Given the description of an element on the screen output the (x, y) to click on. 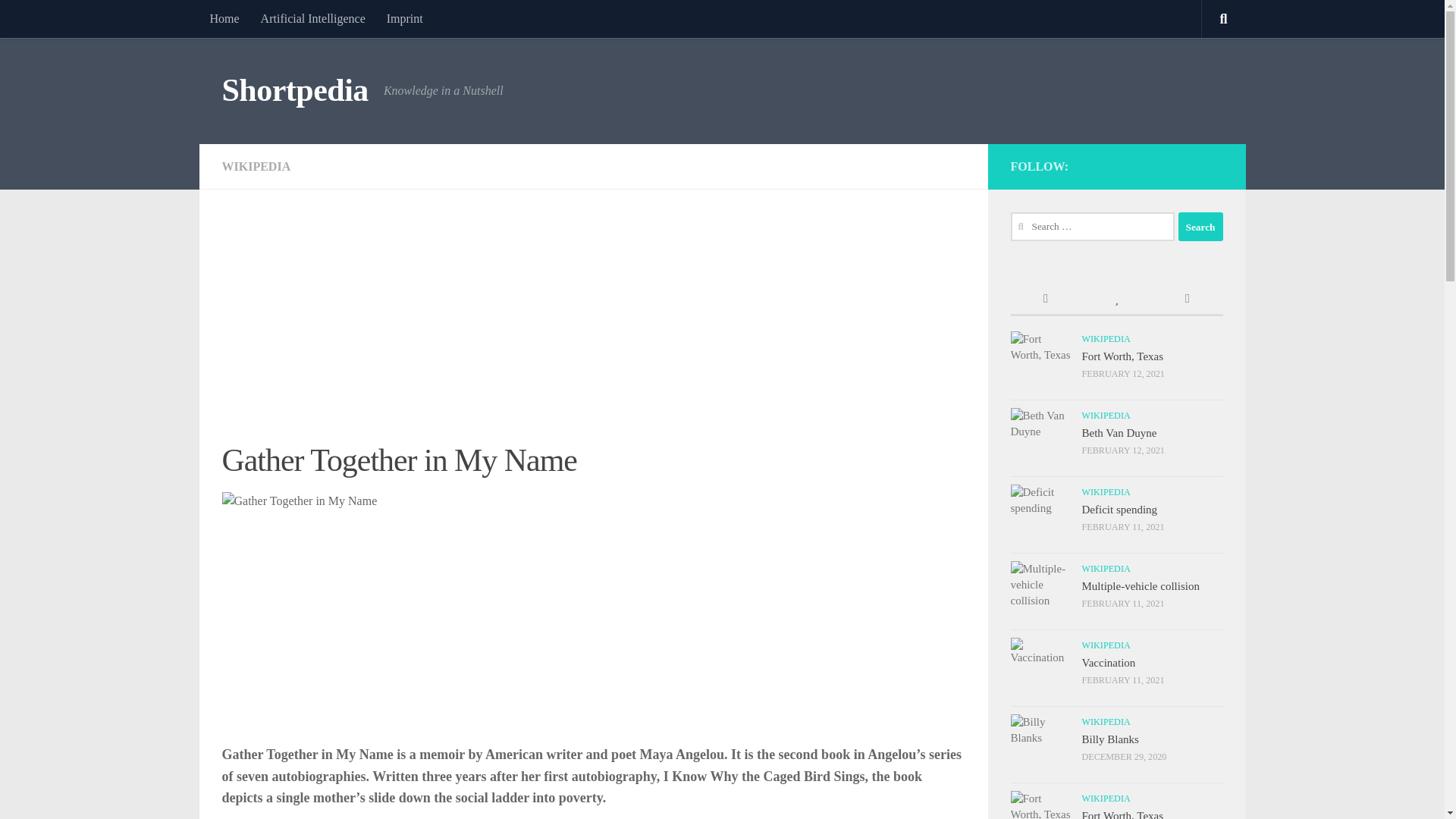
Home (223, 18)
Fort Worth, Texas (1122, 356)
WIKIPEDIA (1105, 338)
WIKIPEDIA (1105, 491)
Beth Van Duyne (1118, 432)
Skip to content (59, 20)
Popular Posts (1116, 299)
Artificial Intelligence (312, 18)
Shortpedia (294, 90)
Deficit spending (1119, 509)
